Given the description of an element on the screen output the (x, y) to click on. 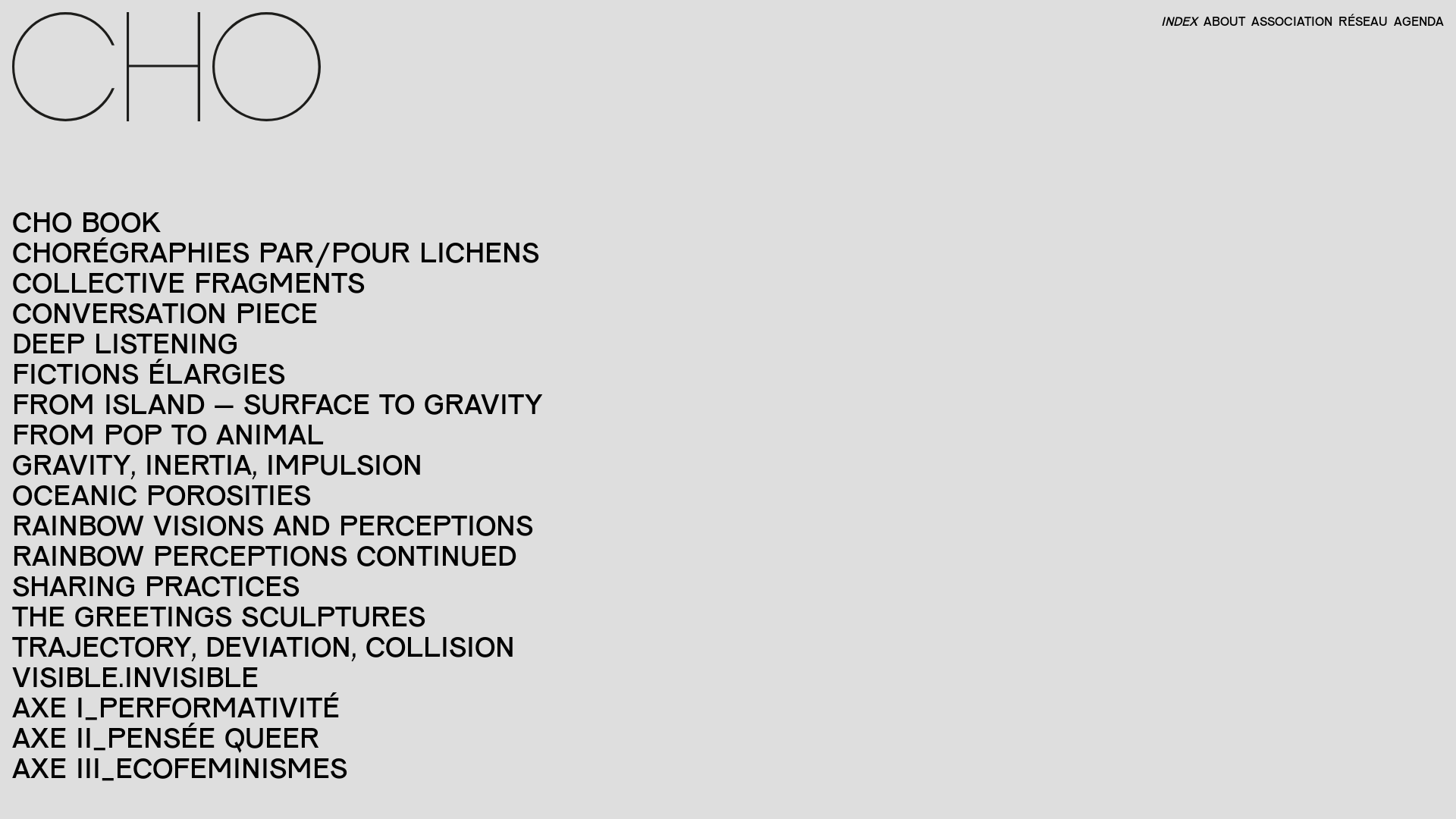
ABOUT Element type: text (1221, 21)
GRAVITY, INERTIA, IMPULSION Element type: text (217, 463)
SHARING PRACTICES Element type: text (155, 585)
RAINBOW PERCEPTIONS CONTINUED Element type: text (264, 554)
FROM POP TO ANIMAL Element type: text (167, 433)
VISIBLE.INVISIBLE Element type: text (135, 676)
OCEANIC POROSITIES Element type: text (161, 494)
INDEX Element type: text (1175, 21)
ASSOCIATION Element type: text (1288, 21)
RAINBOW VISIONS AND PERCEPTIONS Element type: text (272, 524)
TRAJECTORY, DEVIATION, COLLISION Element type: text (263, 645)
CONVERSATION PIECE Element type: text (164, 312)
AGENDA Element type: text (1415, 21)
THE GREETINGS SCULPTURES Element type: text (218, 615)
CHO BOOK Element type: text (86, 221)
DEEP LISTENING Element type: text (125, 342)
COLLECTIVE FRAGMENTS Element type: text (188, 281)
AXE III_ECOFEMINISMES Element type: text (179, 767)
